Given the description of an element on the screen output the (x, y) to click on. 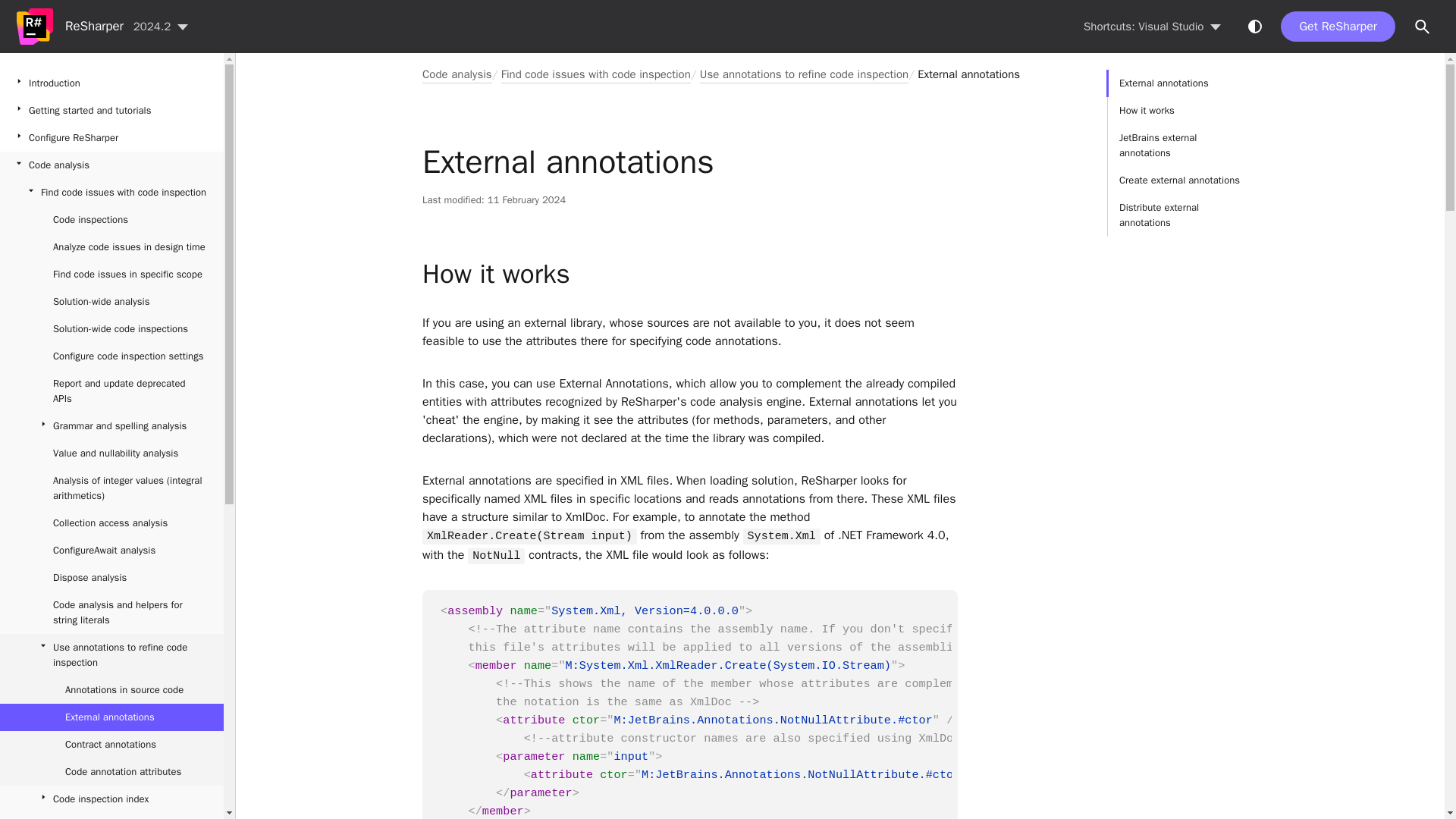
Solution-wide code inspections (112, 329)
Report and update deprecated APIs (112, 391)
Getting started and tutorials (112, 110)
Code analysis (112, 165)
Introduction (112, 83)
Get ReSharper (1337, 26)
Solution-wide analysis (112, 301)
Contract annotations (112, 744)
Dispose analysis (112, 577)
